Given the description of an element on the screen output the (x, y) to click on. 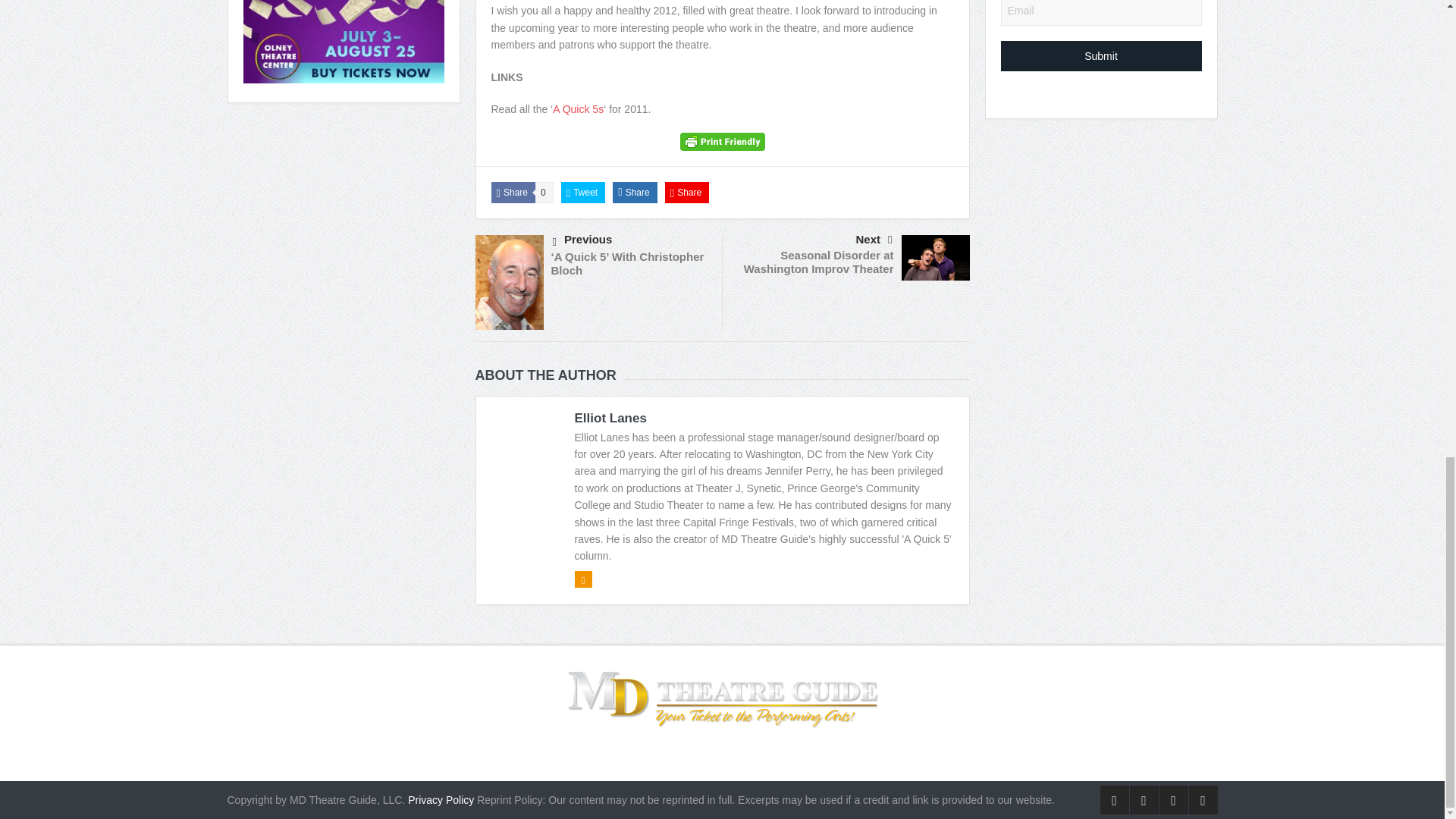
Submit (1101, 55)
